Given the description of an element on the screen output the (x, y) to click on. 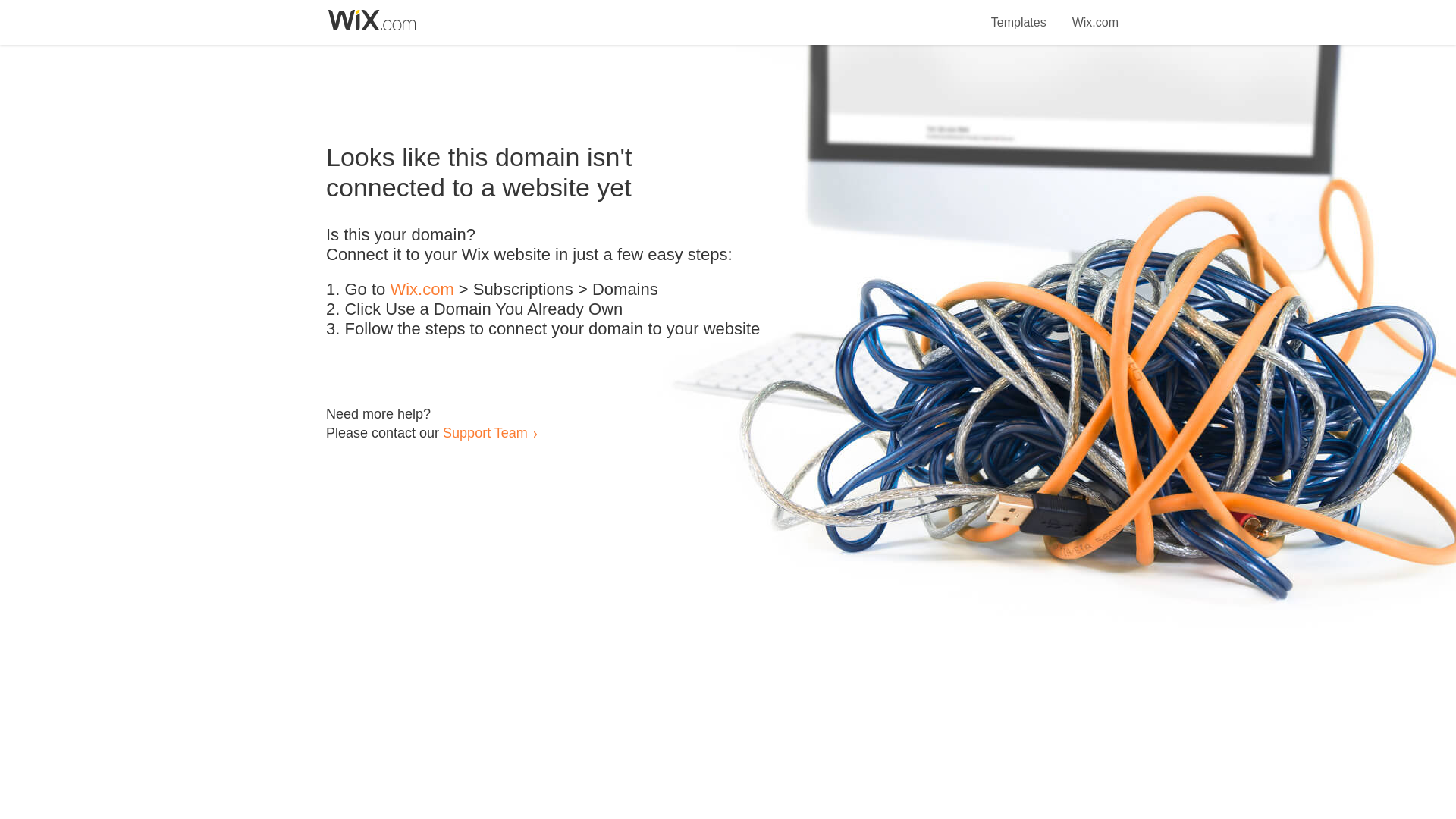
Wix.com (1095, 14)
Templates (1018, 14)
Wix.com (421, 289)
Support Team (484, 432)
